Given the description of an element on the screen output the (x, y) to click on. 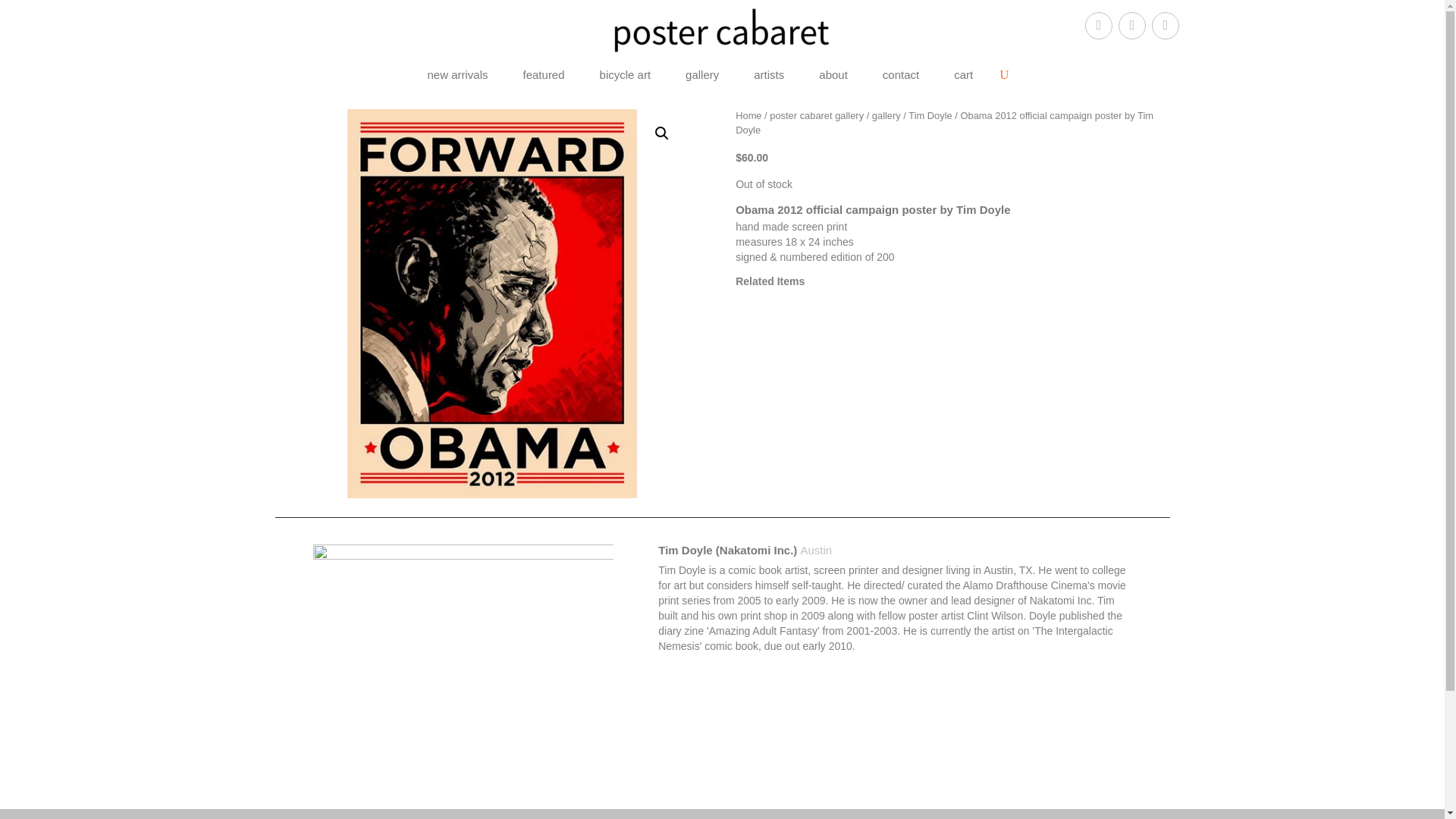
gallery (886, 115)
Follow on Instagram (1165, 25)
Tim (462, 657)
Home (748, 115)
featured (543, 77)
new arrivals (456, 77)
Poster Cabaret Logo (721, 30)
Follow on Facebook (1098, 25)
gallery (702, 77)
Follow on Pinterest (1131, 25)
artists (769, 77)
about (832, 77)
contact (900, 77)
cart (962, 77)
